Given the description of an element on the screen output the (x, y) to click on. 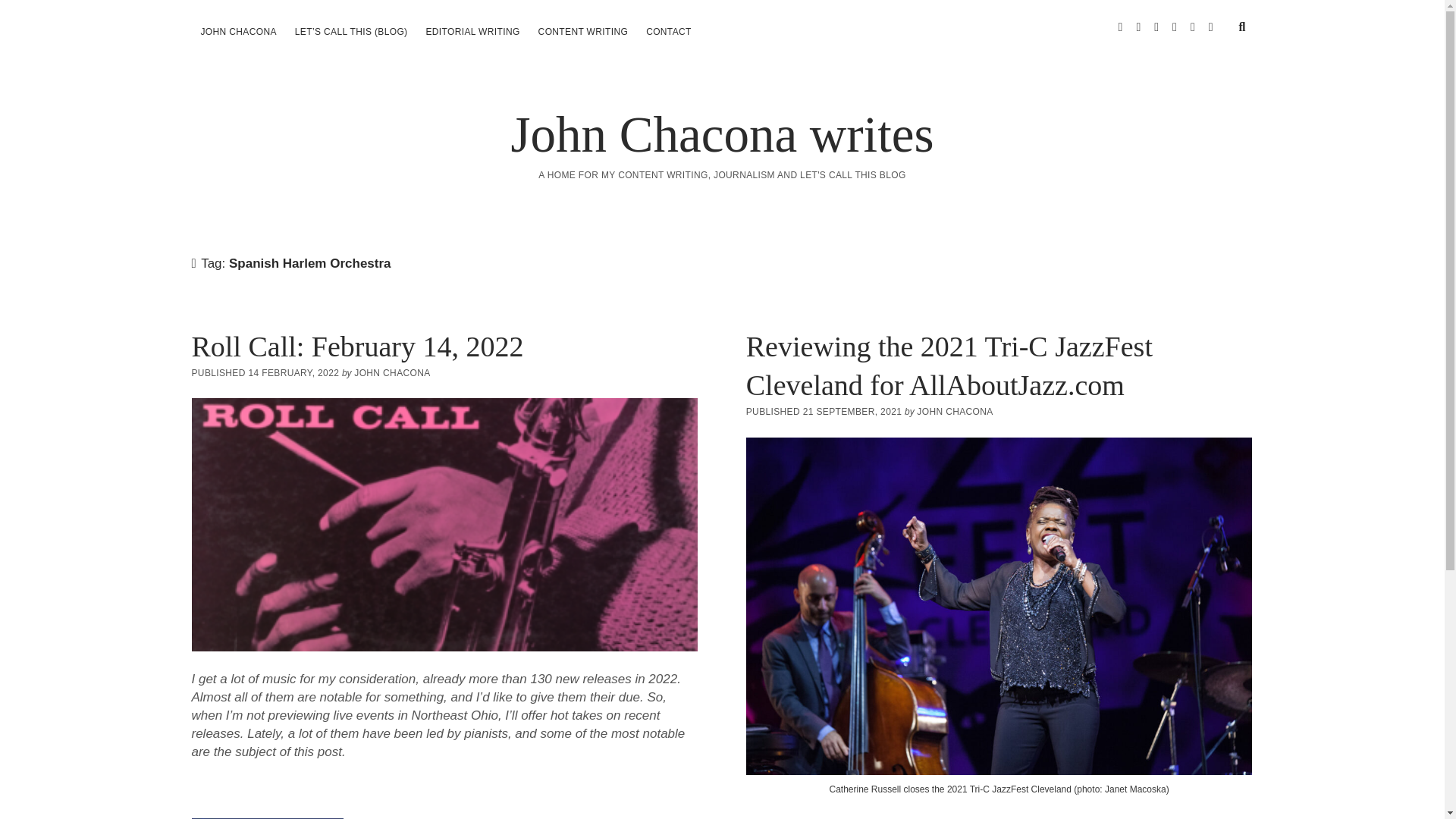
JOHN CHACONA (237, 31)
EDITORIAL WRITING (472, 31)
CONTACT (668, 31)
Roll Call: February 14, 2022 (443, 524)
CONTENT WRITING (583, 31)
Roll Call: February 14, 2022 (356, 346)
John Chacona writes (722, 134)
